Given the description of an element on the screen output the (x, y) to click on. 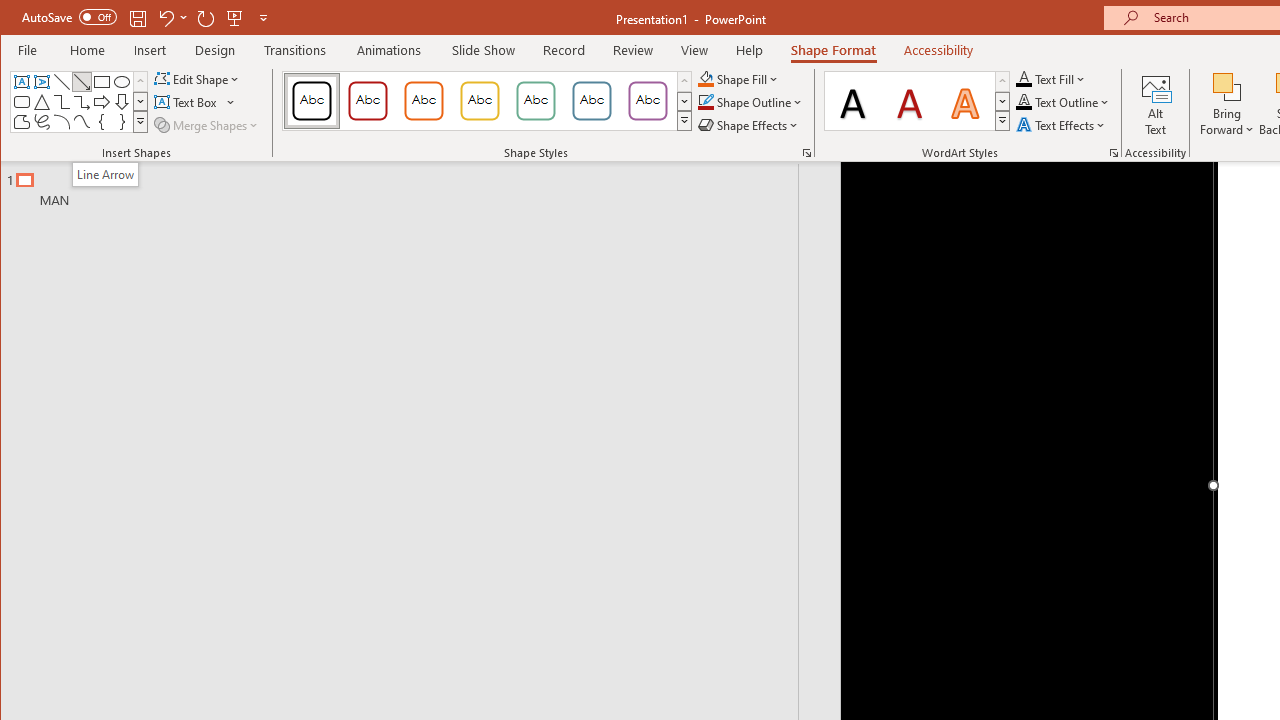
Fill: Black, Text color 1; Shadow (853, 100)
Text Fill RGB(0, 0, 0) (1023, 78)
Colored Outline - Orange, Accent 2 (423, 100)
Draw Horizontal Text Box (187, 101)
AutomationID: ShapeStylesGallery (488, 101)
Text Outline (1062, 101)
